Given the description of an element on the screen output the (x, y) to click on. 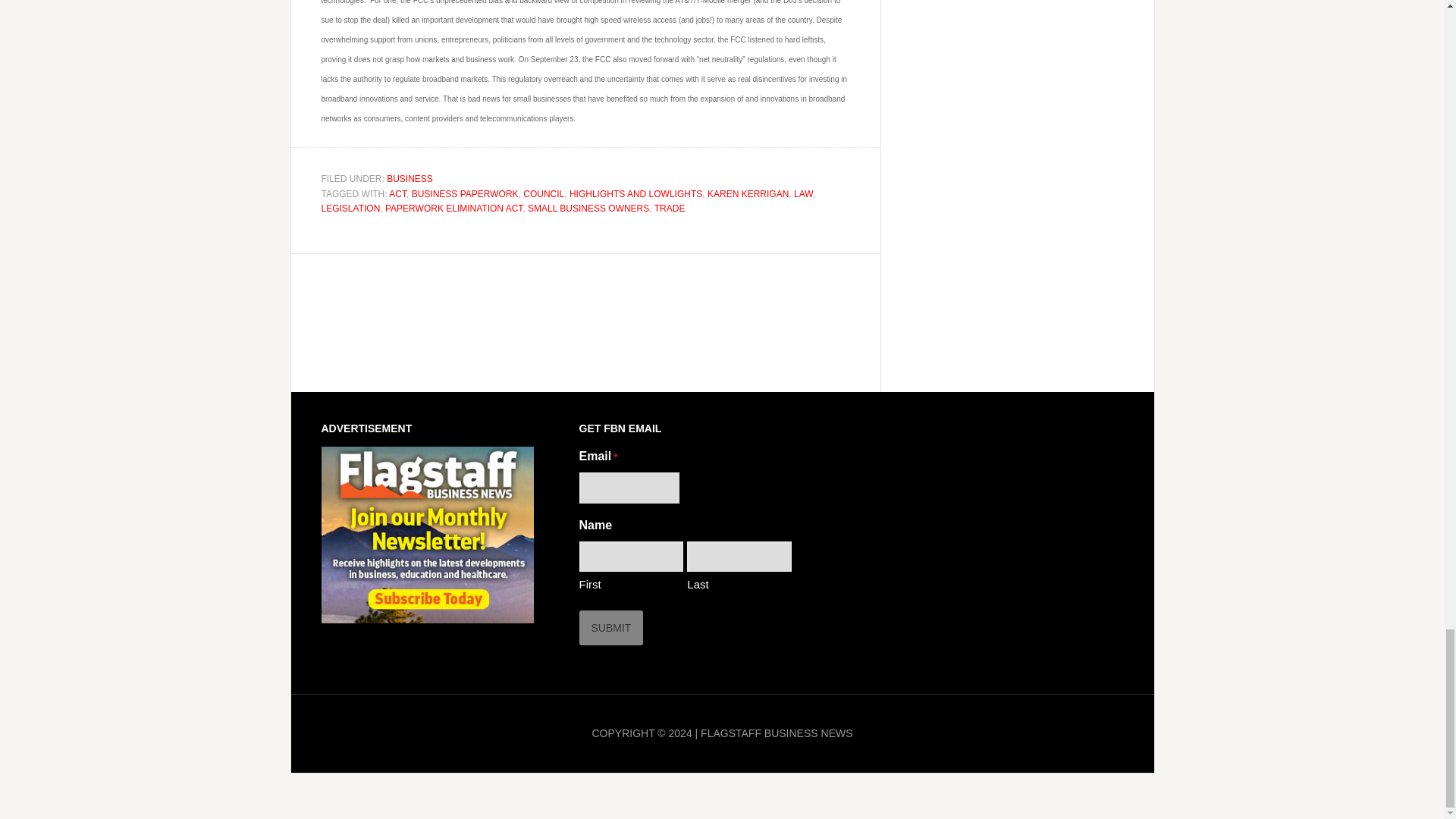
SMALL BUSINESS OWNERS (588, 208)
BUSINESS (409, 178)
COUNCIL (543, 193)
KAREN KERRIGAN (748, 193)
PAPERWORK ELIMINATION ACT (453, 208)
BUSINESS PAPERWORK (465, 193)
Submit (611, 627)
LAW (802, 193)
ACT (397, 193)
LEGISLATION (350, 208)
TRADE (669, 208)
HIGHLIGHTS AND LOWLIGHTS (635, 193)
